Given the description of an element on the screen output the (x, y) to click on. 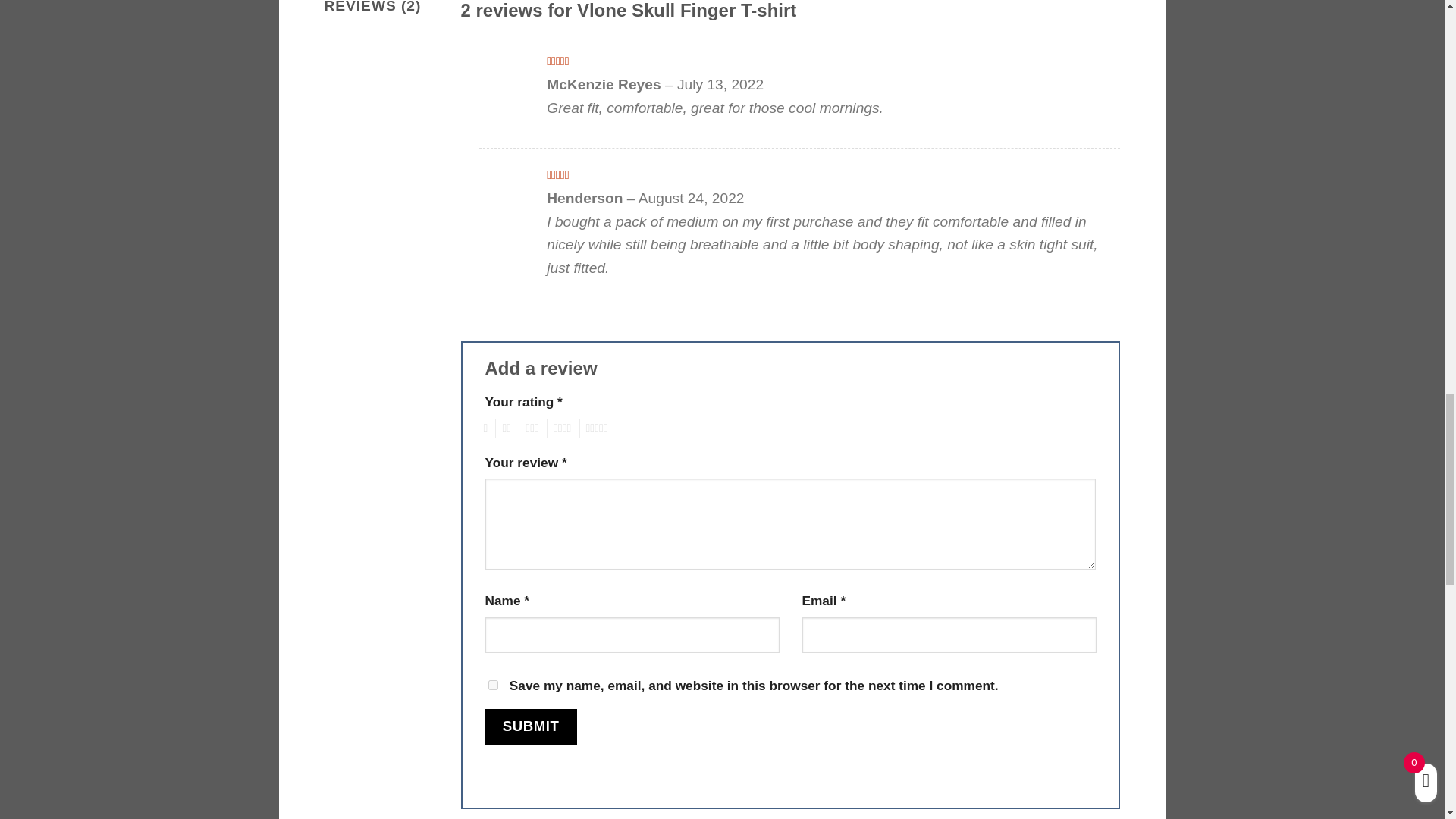
Submit (530, 726)
yes (492, 685)
